Given the description of an element on the screen output the (x, y) to click on. 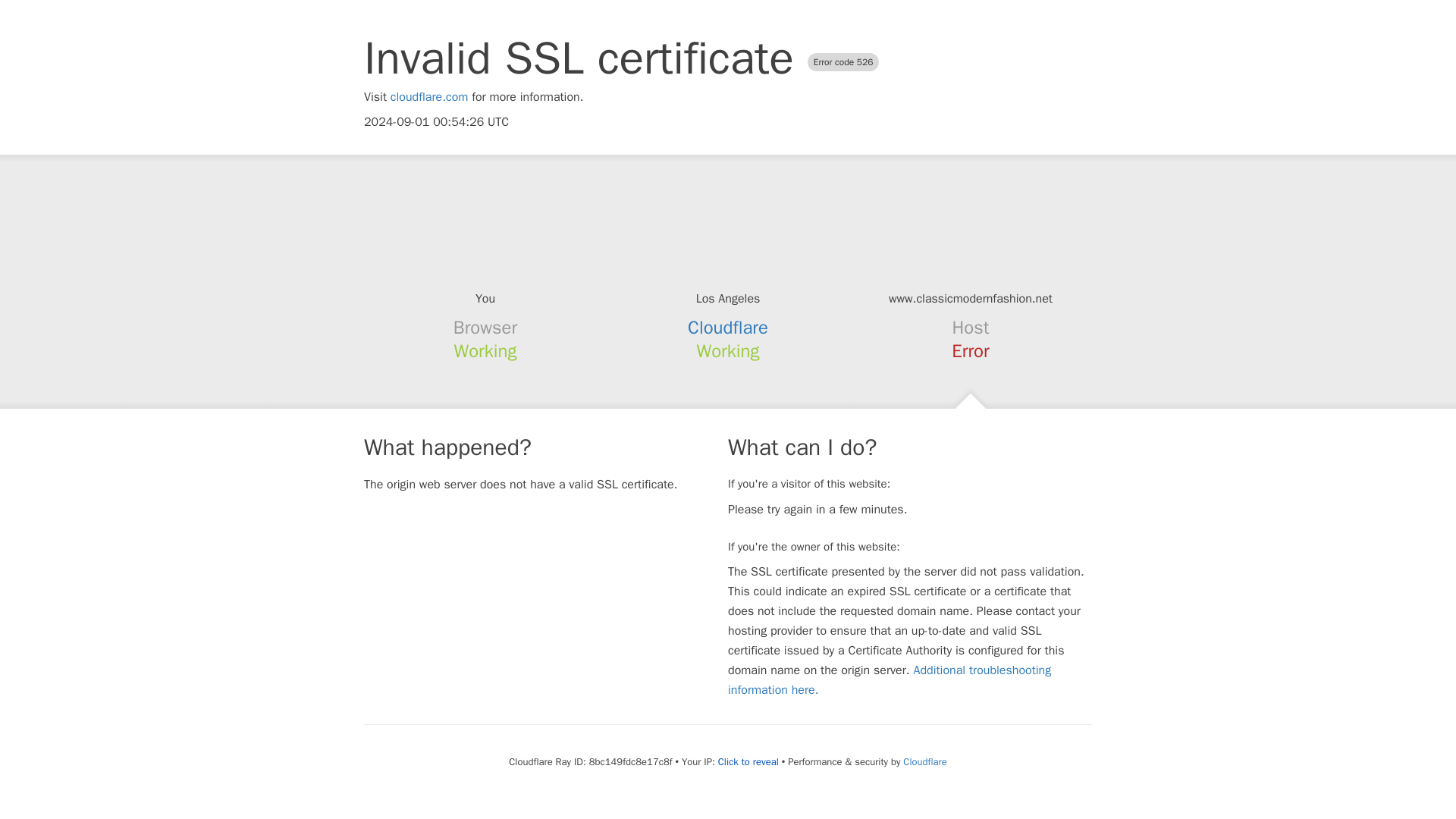
Cloudflare (727, 327)
Cloudflare (924, 761)
cloudflare.com (429, 96)
Additional troubleshooting information here. (889, 679)
Click to reveal (747, 762)
